Given the description of an element on the screen output the (x, y) to click on. 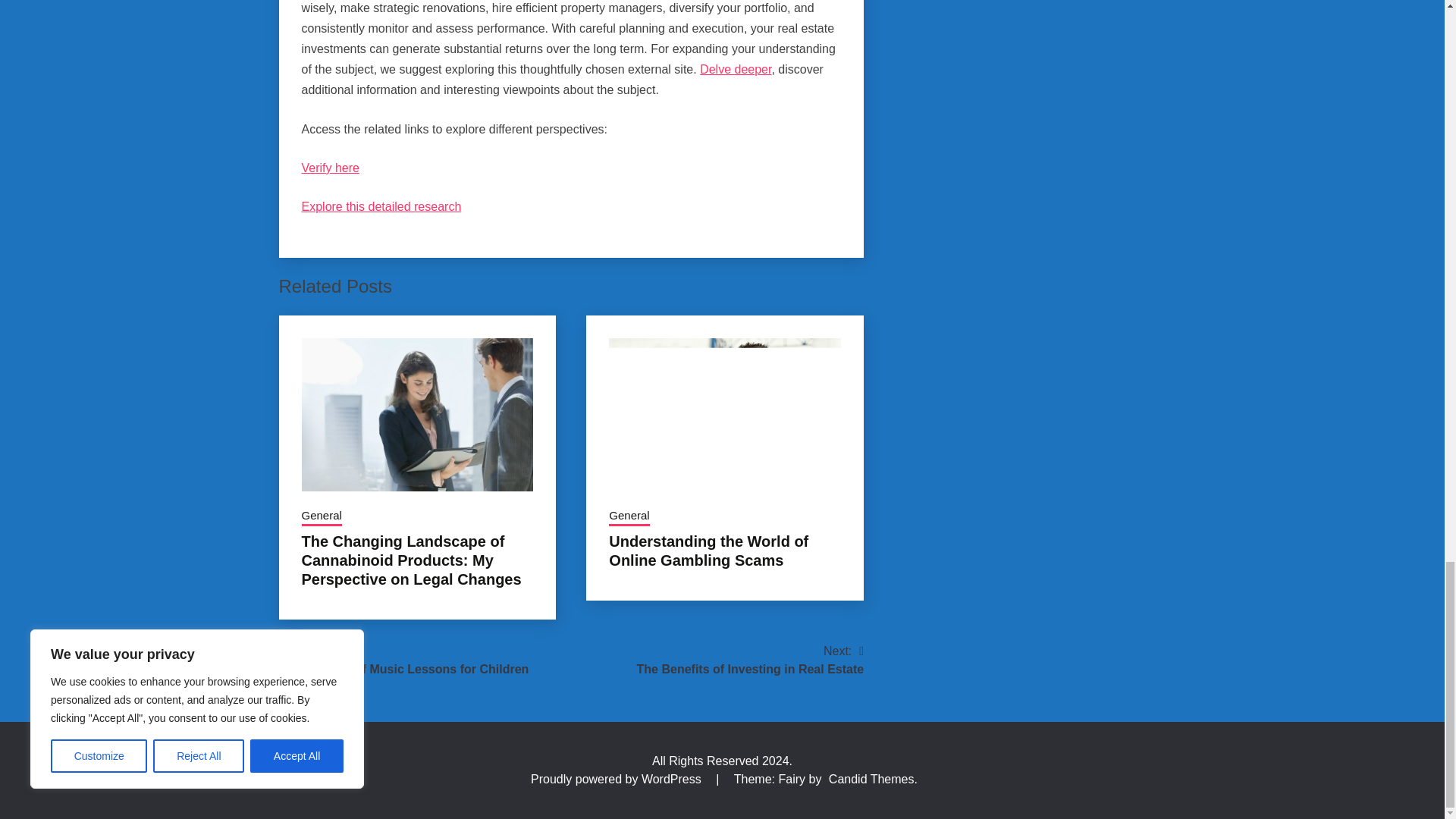
Explore this detailed research (381, 205)
Delve deeper (735, 69)
General (321, 516)
Verify here (330, 167)
